Given the description of an element on the screen output the (x, y) to click on. 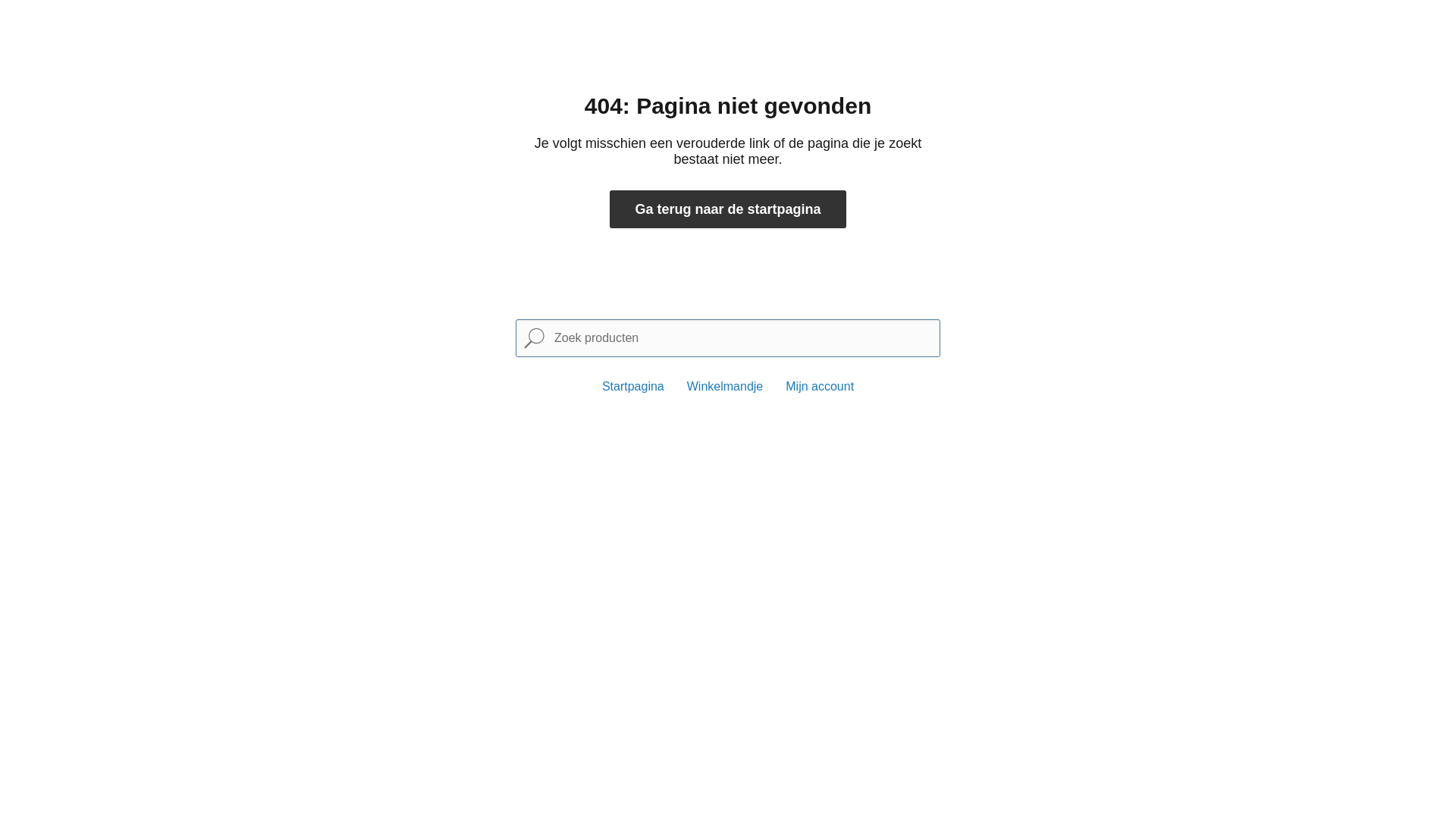
Ga terug naar de startpagina Element type: text (727, 209)
Mijn account Element type: text (819, 386)
Startpagina Element type: text (633, 386)
Winkelmandje Element type: text (724, 386)
